Given the description of an element on the screen output the (x, y) to click on. 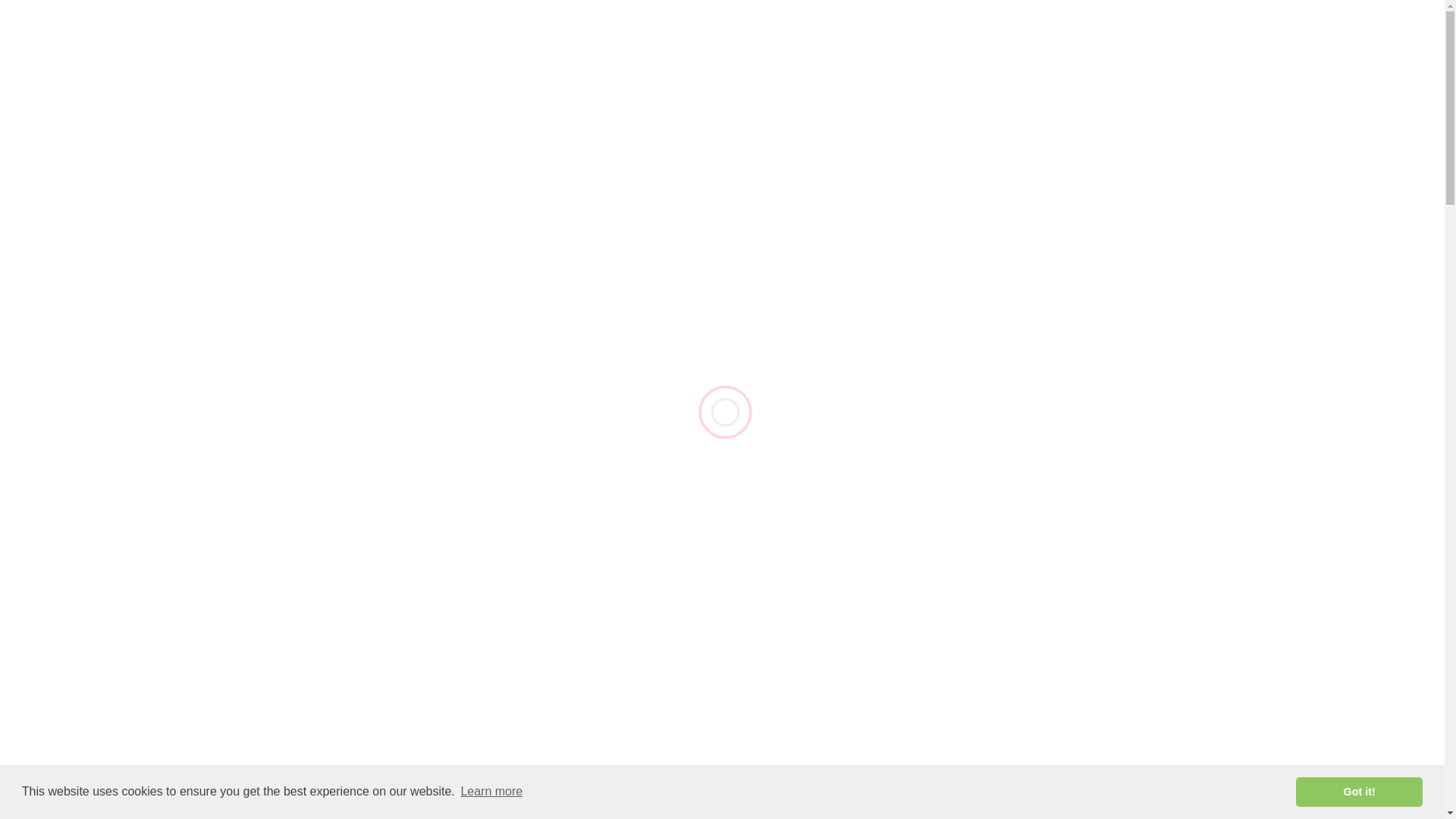
Sign In (1110, 41)
View All (1130, 481)
Got it! (1358, 791)
Stores (736, 42)
Learn more (721, 587)
View All (491, 791)
Search (1130, 587)
How To Buy (670, 42)
